Given the description of an element on the screen output the (x, y) to click on. 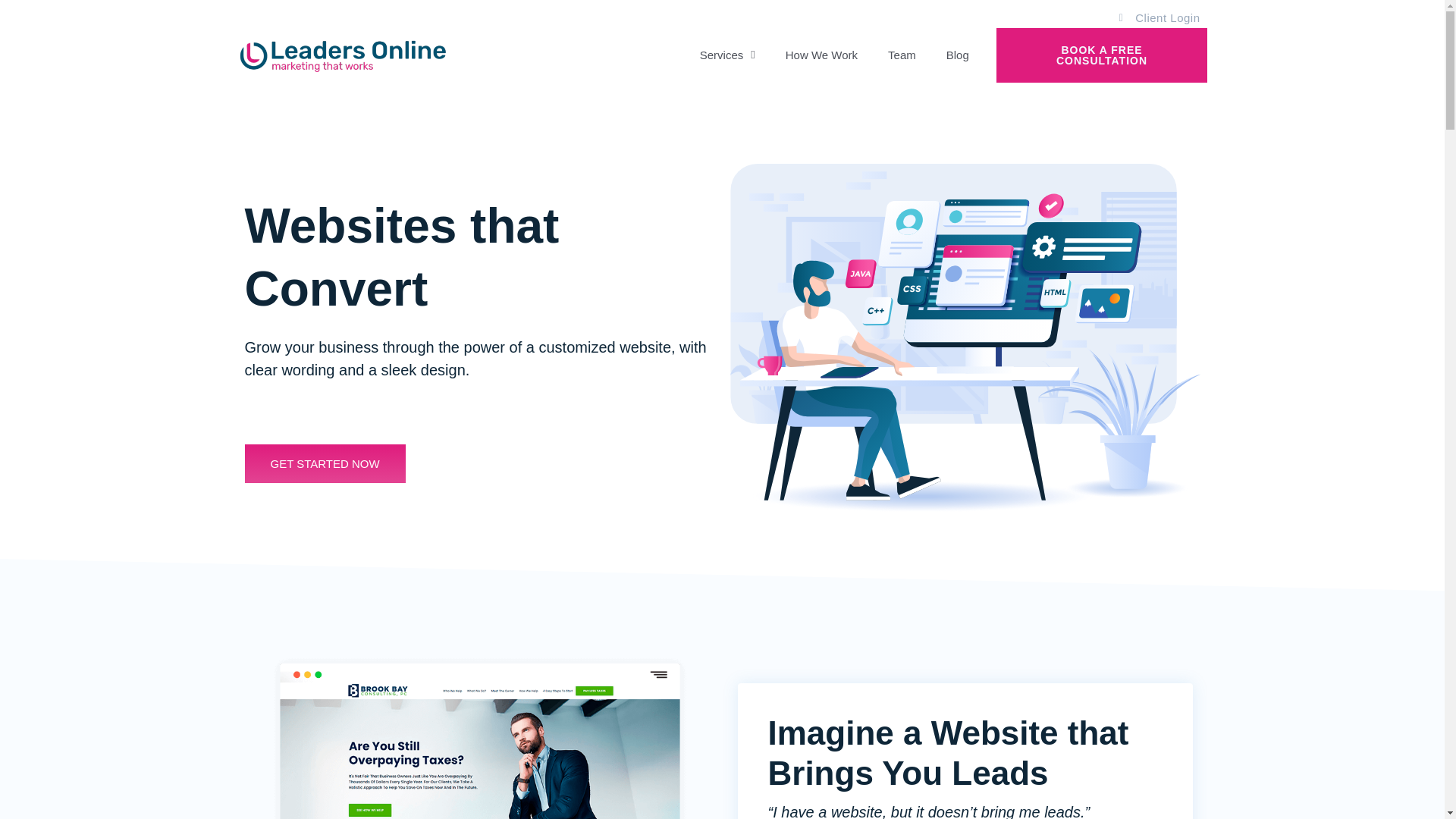
Client Login (1154, 17)
Team (901, 54)
Services (727, 54)
Website Building 2 (479, 735)
Blog (957, 54)
GET STARTED NOW (324, 463)
How We Work (821, 54)
BOOK A FREE CONSULTATION (1101, 54)
